Given the description of an element on the screen output the (x, y) to click on. 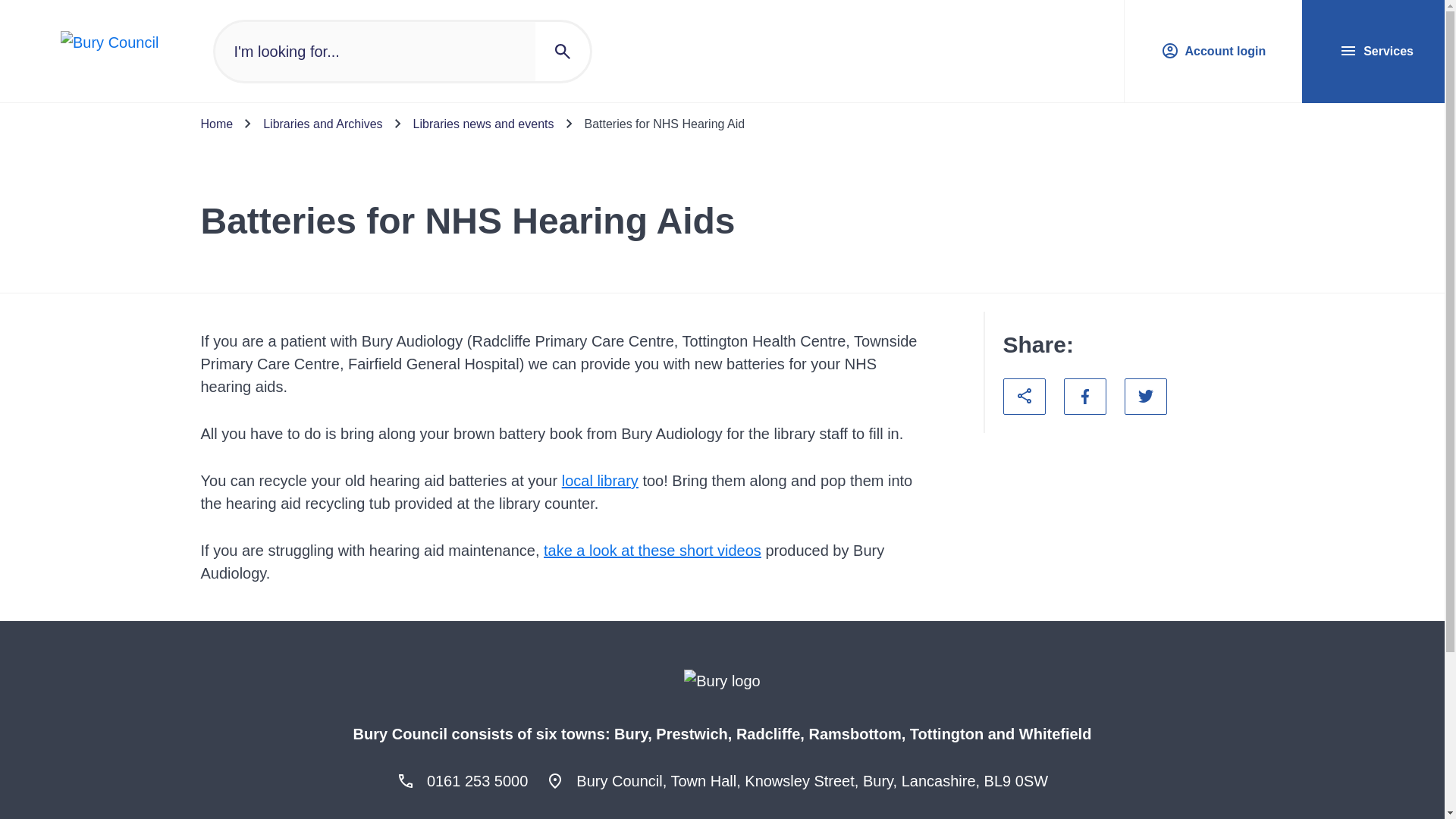
Account login (1210, 51)
local library (600, 480)
Search Site (402, 51)
